Given the description of an element on the screen output the (x, y) to click on. 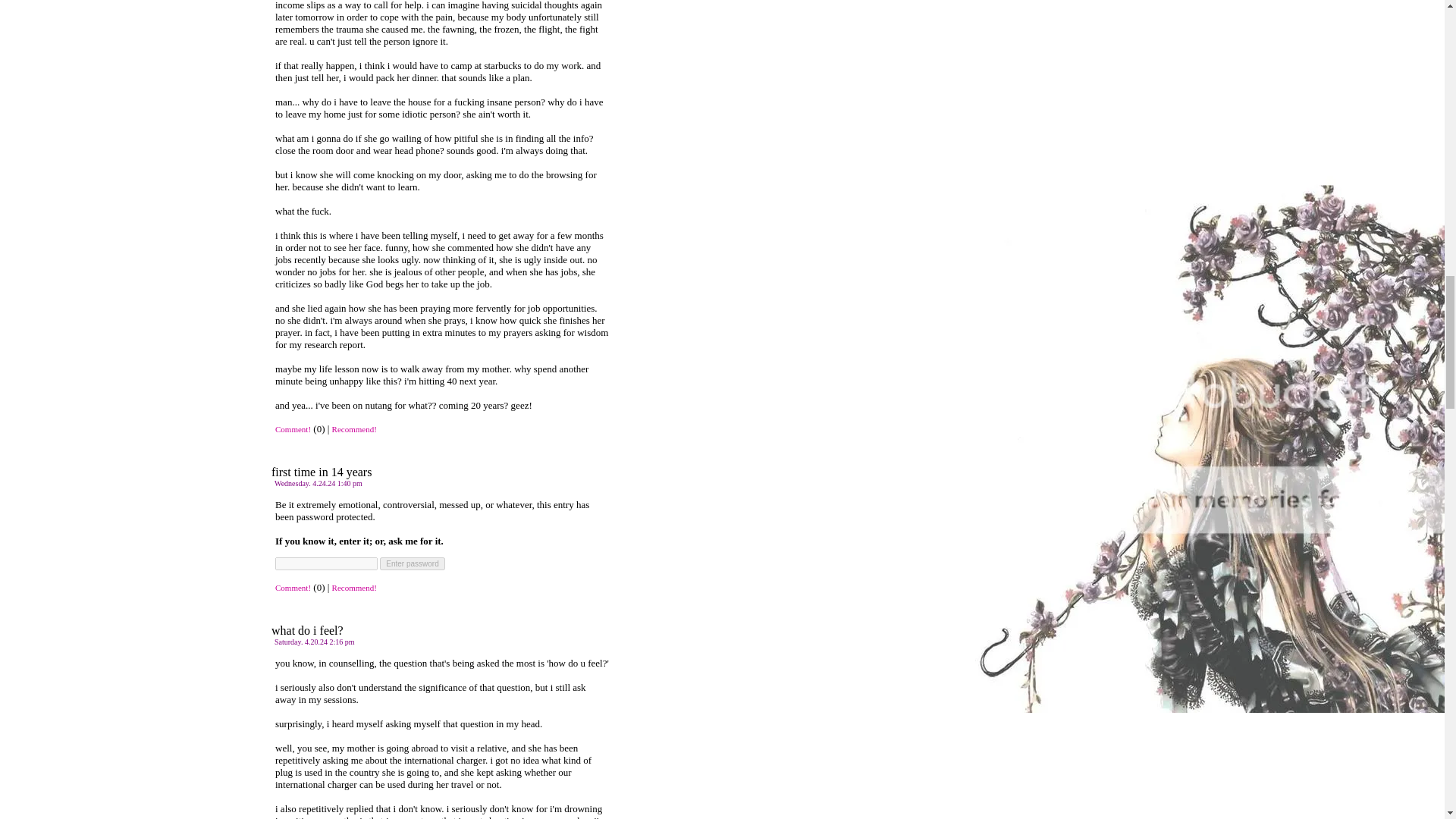
Enter password (412, 563)
